Given the description of an element on the screen output the (x, y) to click on. 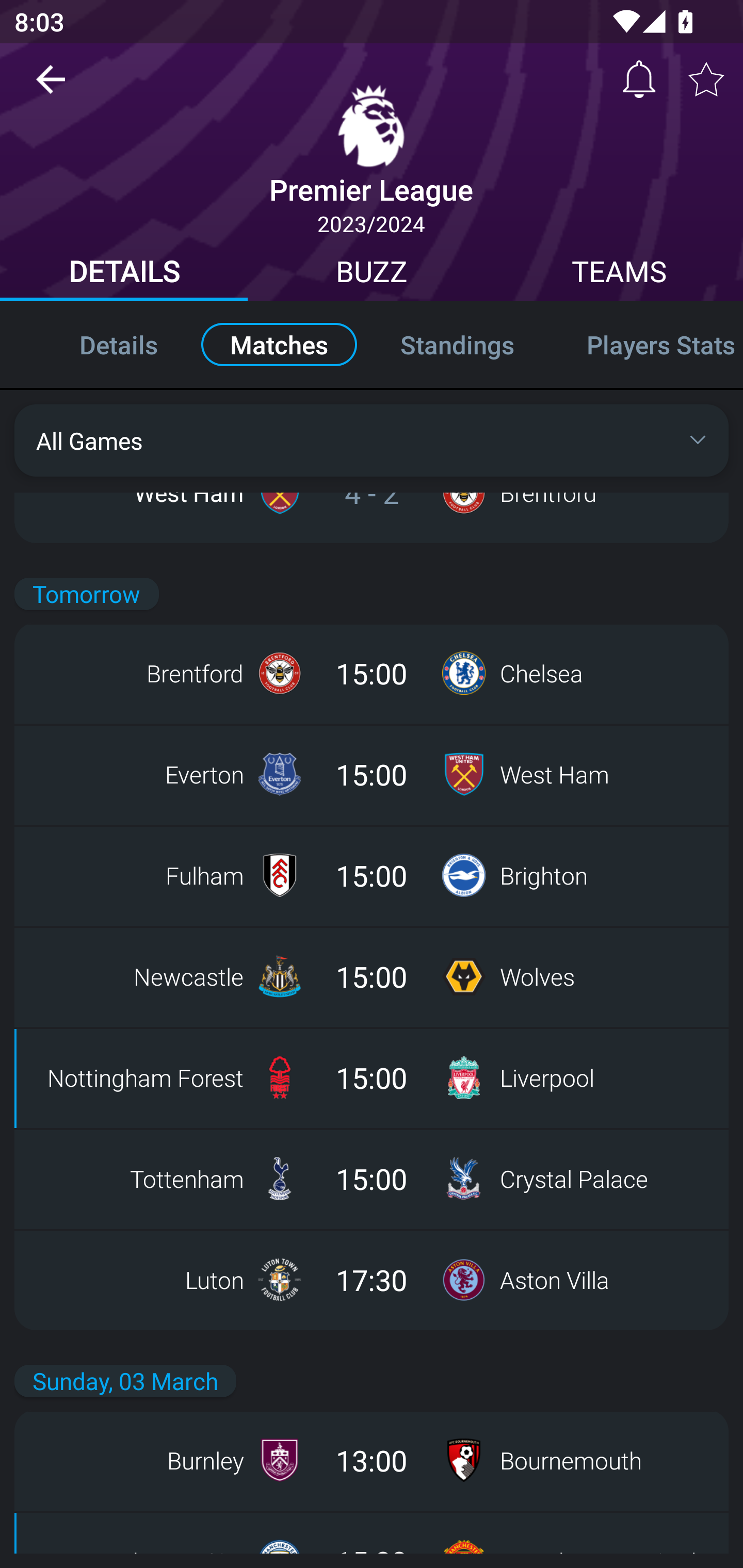
Navigate up (50, 86)
DETAILS (123, 274)
BUZZ (371, 274)
TEAMS (619, 274)
Details (96, 344)
Standings (457, 344)
Players Stats (646, 344)
All Games (371, 440)
Brentford 15:00 Chelsea (371, 673)
Everton 15:00 West Ham (371, 774)
Fulham 15:00 Brighton (371, 874)
Newcastle 15:00 Wolves (371, 976)
Nottingham Forest 15:00 Liverpool (371, 1077)
Tottenham 15:00 Crystal Palace (371, 1178)
Luton 17:30 Aston Villa (371, 1279)
Burnley 13:00 Bournemouth (371, 1459)
